Given the description of an element on the screen output the (x, y) to click on. 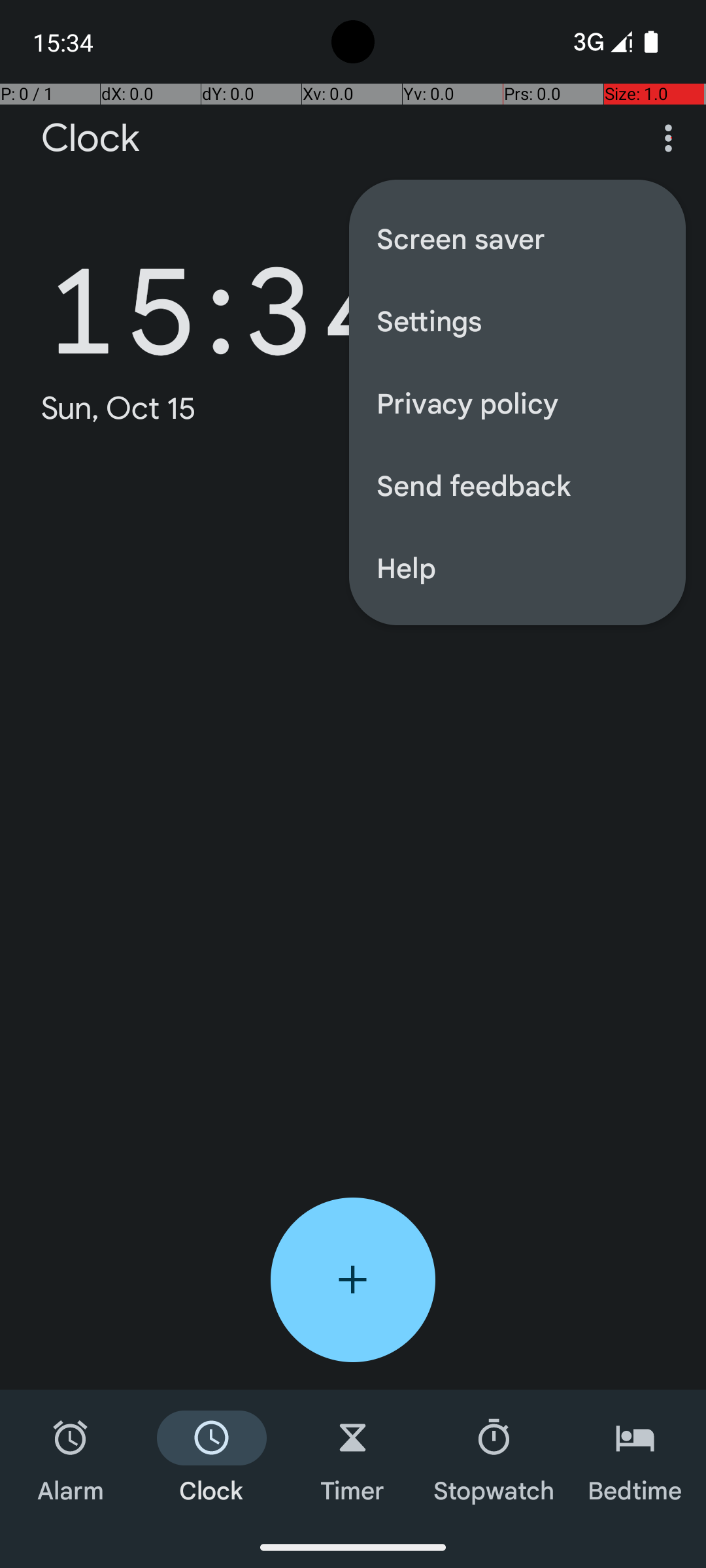
Screen saver Element type: android.widget.TextView (517, 237)
